Given the description of an element on the screen output the (x, y) to click on. 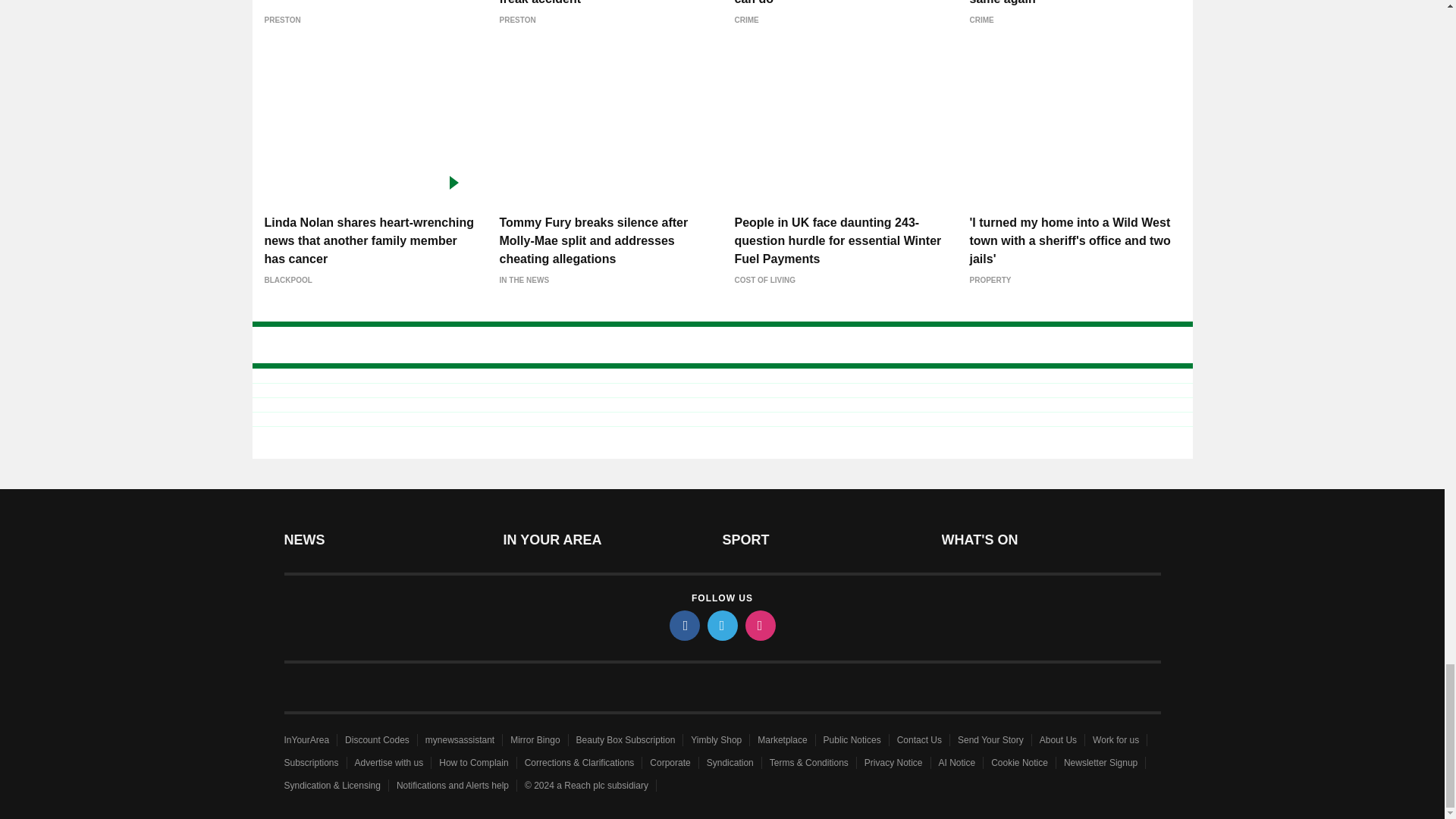
facebook (683, 625)
twitter (721, 625)
instagram (759, 625)
